Given the description of an element on the screen output the (x, y) to click on. 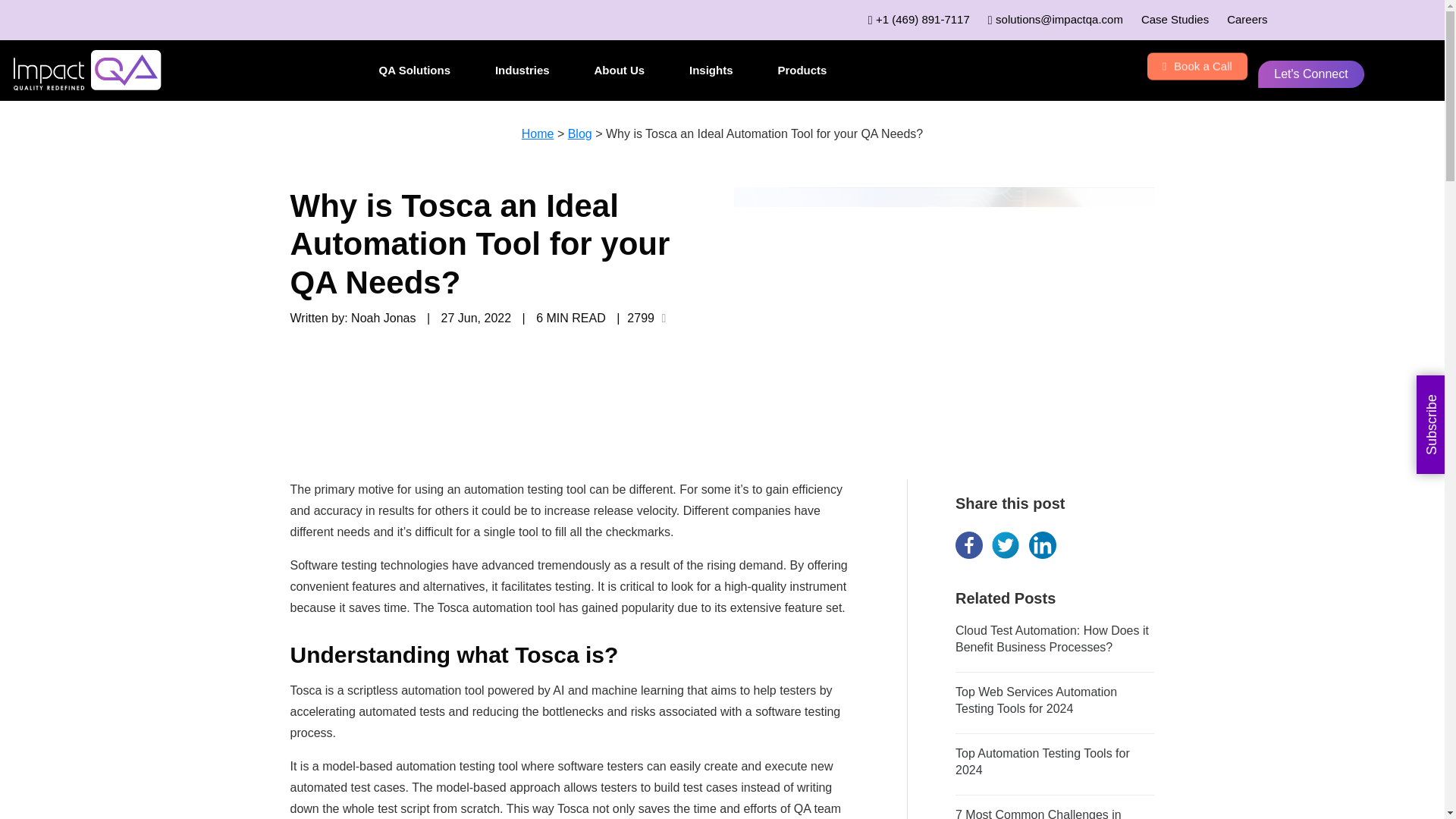
Book a Call (1197, 66)
Careers (1246, 19)
Let's Connect (1309, 73)
QA Solutions (414, 70)
Case Studies (1174, 19)
Industries (522, 70)
